Given the description of an element on the screen output the (x, y) to click on. 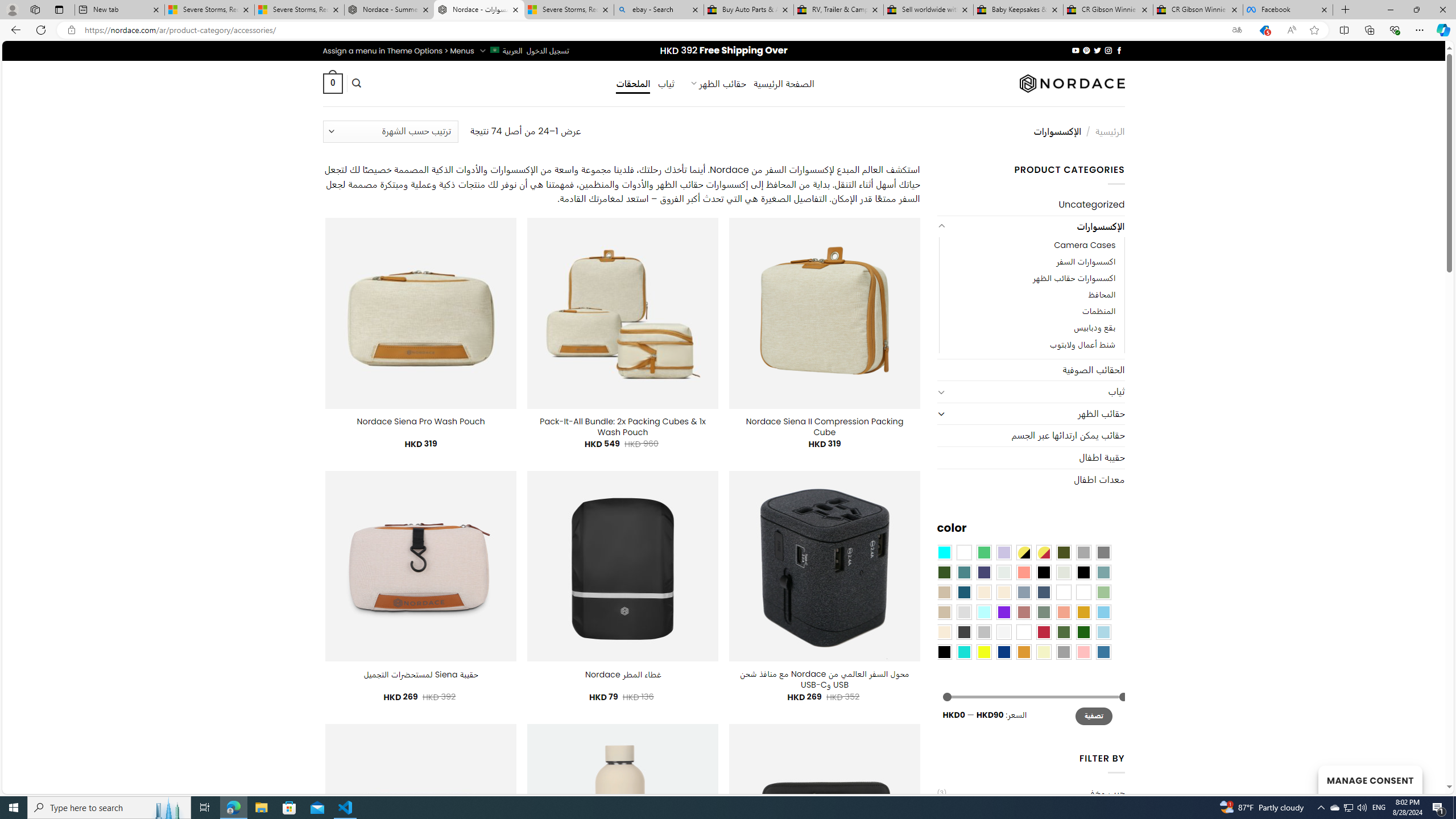
Camera Cases (1084, 245)
Uncategorized (1030, 204)
Purple (1003, 611)
Nordace - Summer Adventures 2024 (389, 9)
Assign a menu in Theme Options > Menus (397, 50)
Restore (1416, 9)
Pack-It-All Bundle: 2x Packing Cubes & 1x Wash Pouch (621, 427)
Rose (1023, 611)
Nordace Siena Pro Wash Pouch (420, 421)
